Given the description of an element on the screen output the (x, y) to click on. 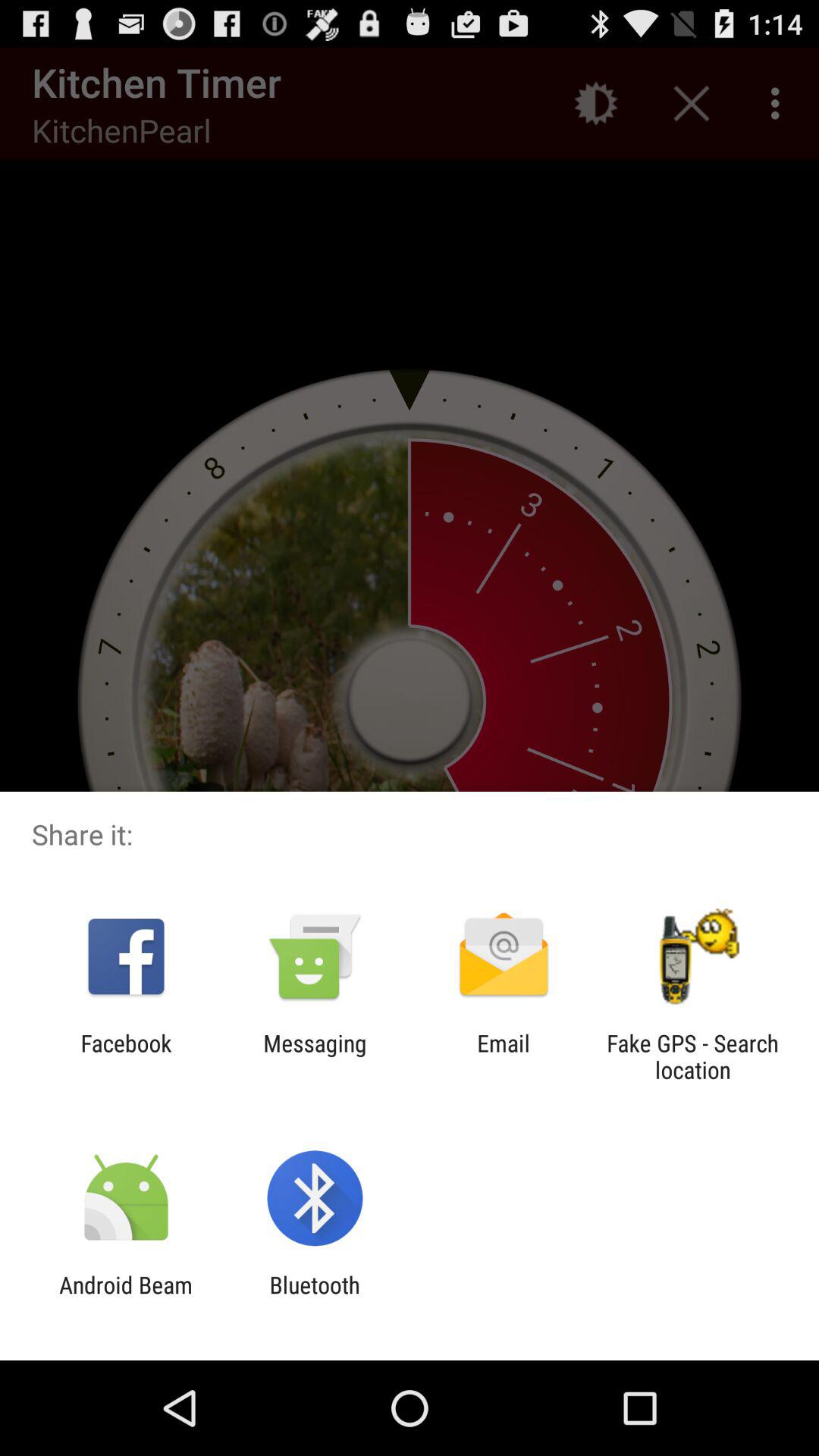
turn on item to the left of the messaging item (125, 1056)
